Given the description of an element on the screen output the (x, y) to click on. 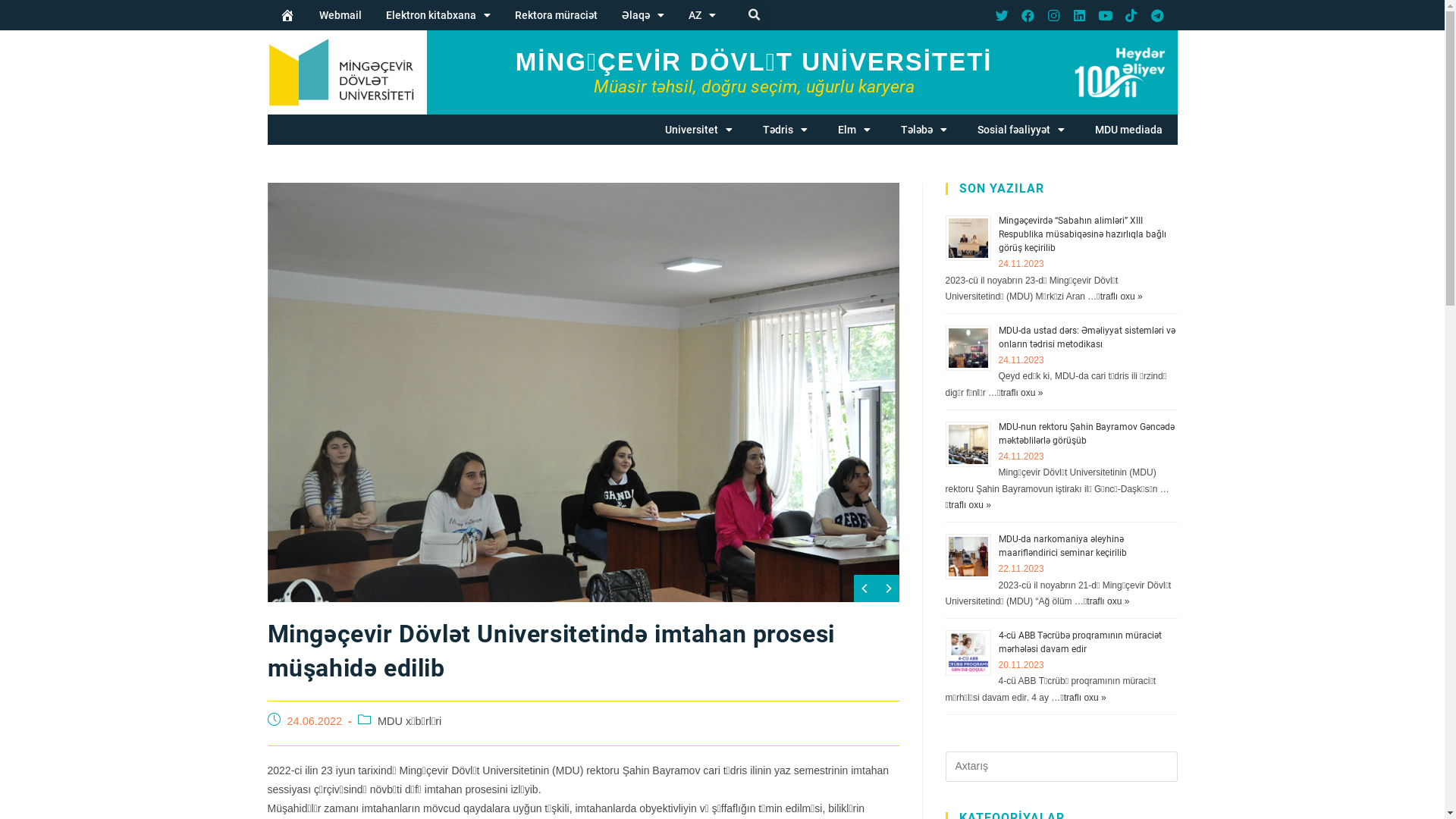
Webmail Element type: text (339, 15)
AZ Element type: text (702, 15)
Elm Element type: text (853, 129)
MDU mediada Element type: text (1128, 129)
Universitet Element type: text (697, 129)
Elektron kitabxana Element type: text (437, 15)
